Given the description of an element on the screen output the (x, y) to click on. 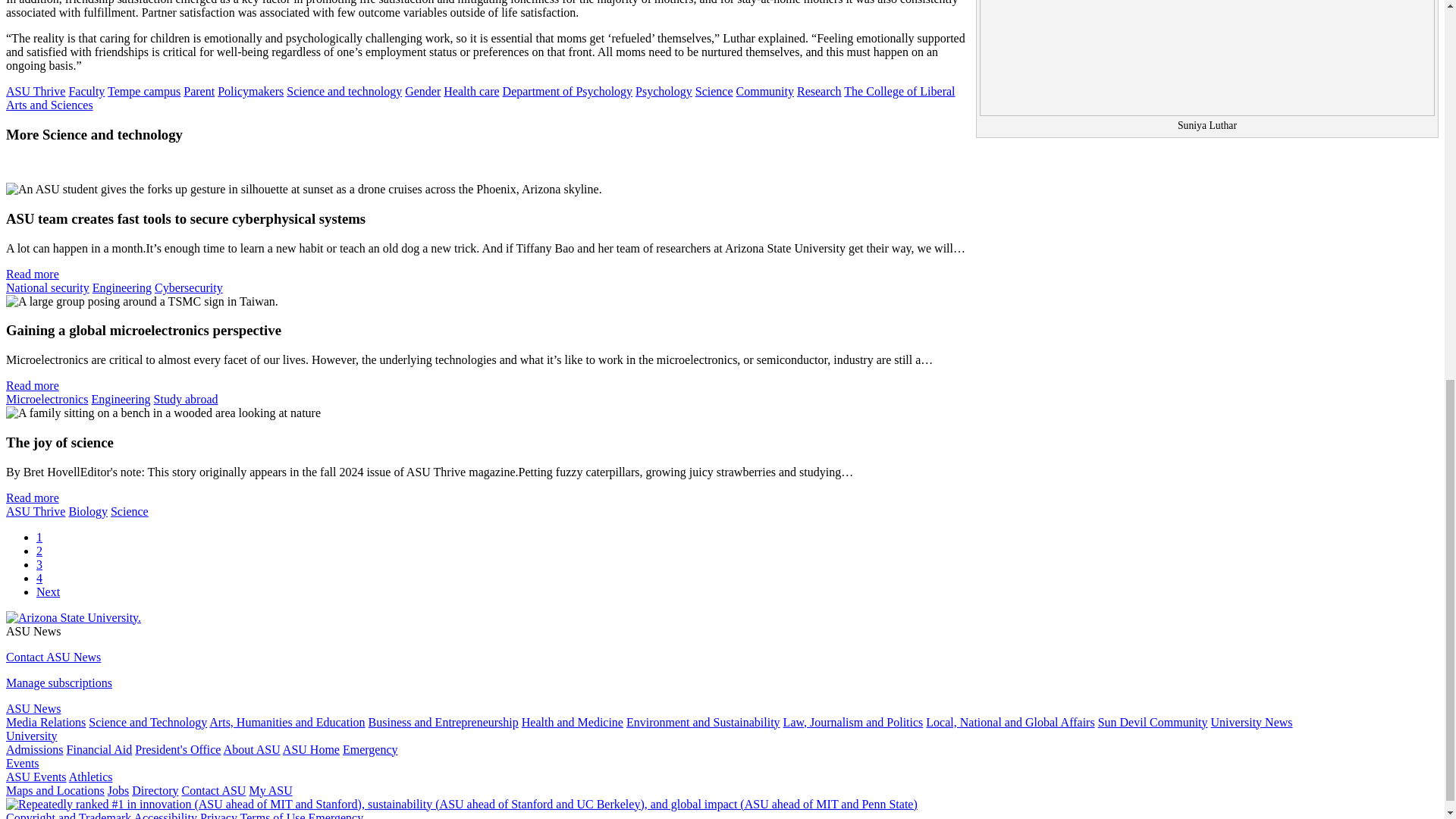
Science and technology (343, 91)
Go to last page (47, 591)
Study abroad (186, 399)
ASU Thrive (35, 511)
Science (129, 511)
Health care (471, 91)
Faculty (86, 91)
Department of Psychology (567, 91)
Research (818, 91)
Science (714, 91)
